Given the description of an element on the screen output the (x, y) to click on. 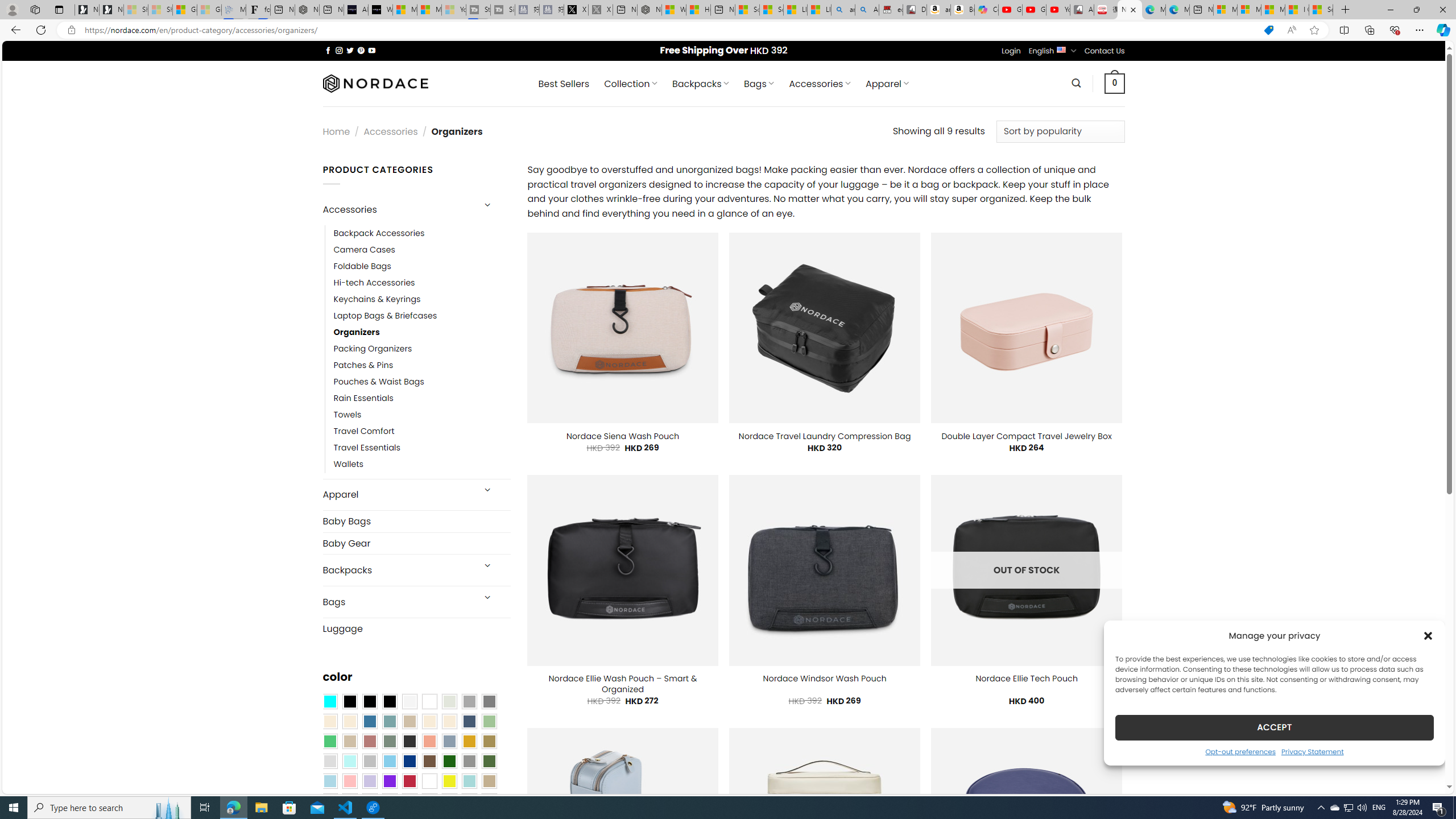
All Gray (488, 701)
Accessories (397, 209)
amazon.in/dp/B0CX59H5W7/?tag=gsmcom05-21 (938, 9)
Gloom - YouTube (1034, 9)
Hi-tech Accessories (373, 282)
Contact Us (1104, 50)
Double Layer Compact Travel Jewelry Box (1026, 436)
Towels (422, 415)
App bar (728, 29)
Baby Gear (416, 542)
